Given the description of an element on the screen output the (x, y) to click on. 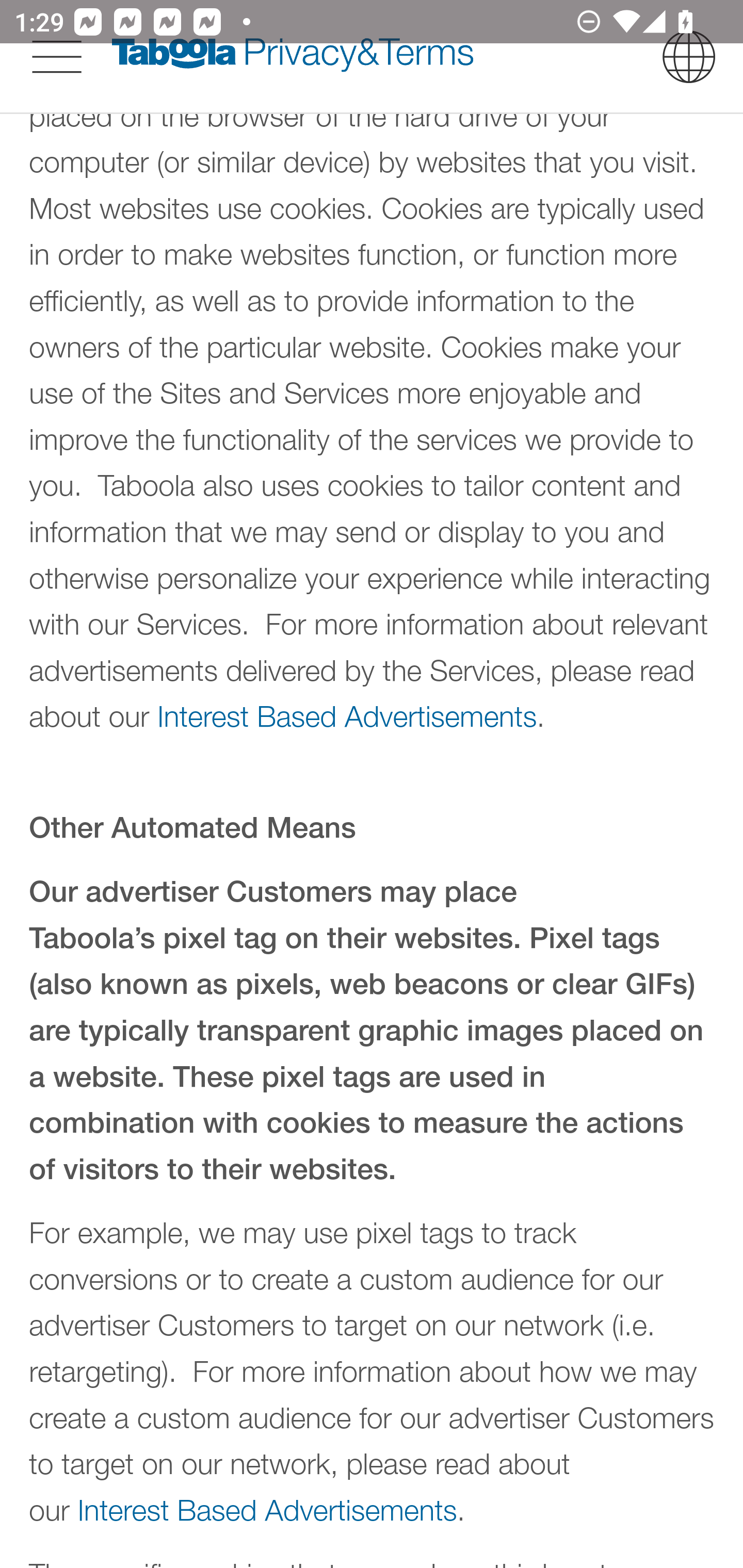
Taboola Privacy & Terms Logo (292, 57)
English (688, 57)
Interest Based Advertisements (346, 718)
Interest Based Advertisements (266, 1510)
